Given the description of an element on the screen output the (x, y) to click on. 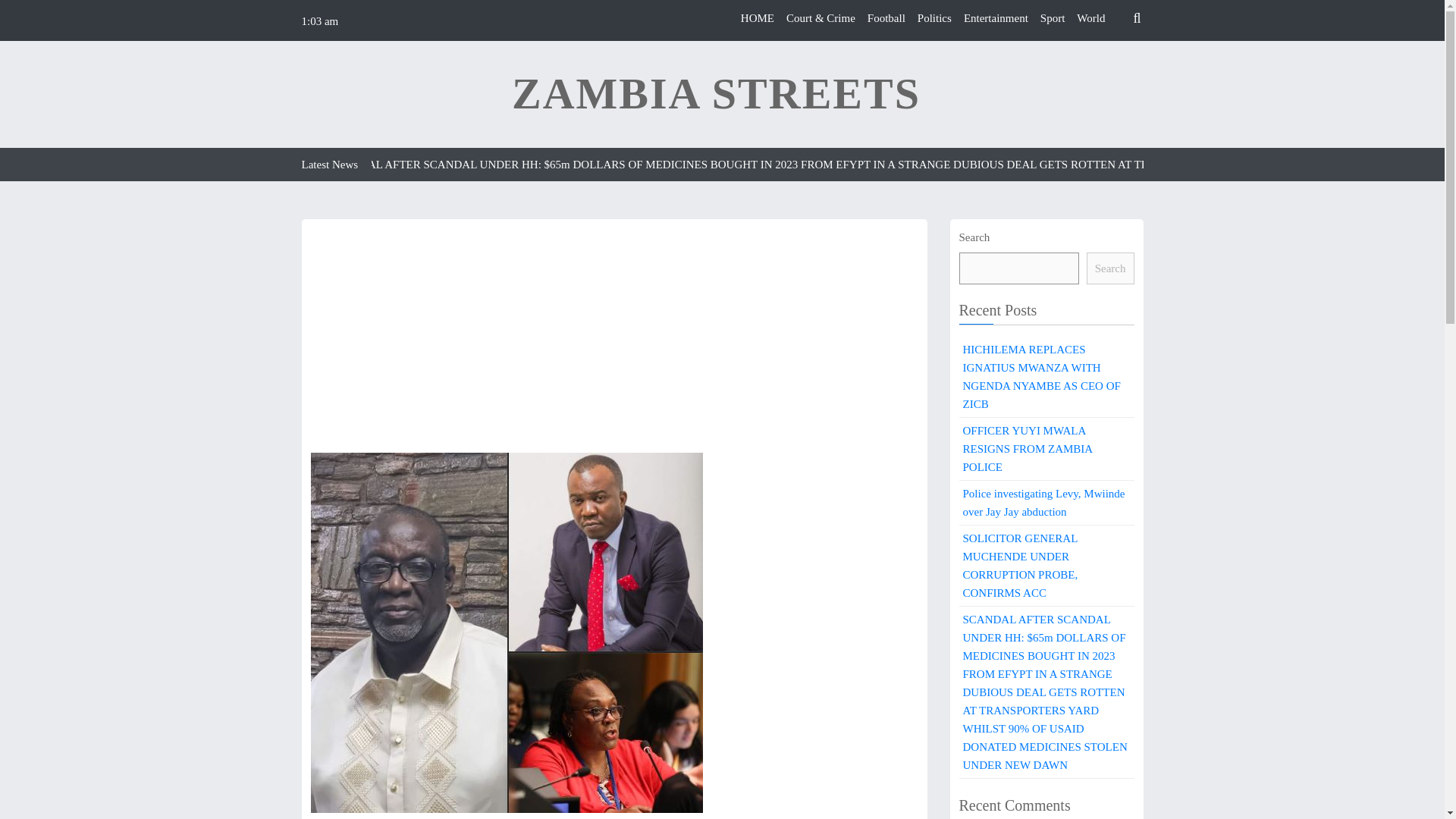
Search (1110, 268)
Advertisement (614, 340)
Sport (1052, 18)
Football (886, 18)
World (1090, 18)
HOME (757, 18)
Entertainment (995, 18)
Search (1109, 54)
ZAMBIA STREETS (716, 93)
Politics (934, 18)
OFFICER YUYI MWALA RESIGNS FROM ZAMBIA POLICE (1046, 448)
Police investigating Levy, Mwiinde over Jay Jay abduction (1046, 502)
